Given the description of an element on the screen output the (x, y) to click on. 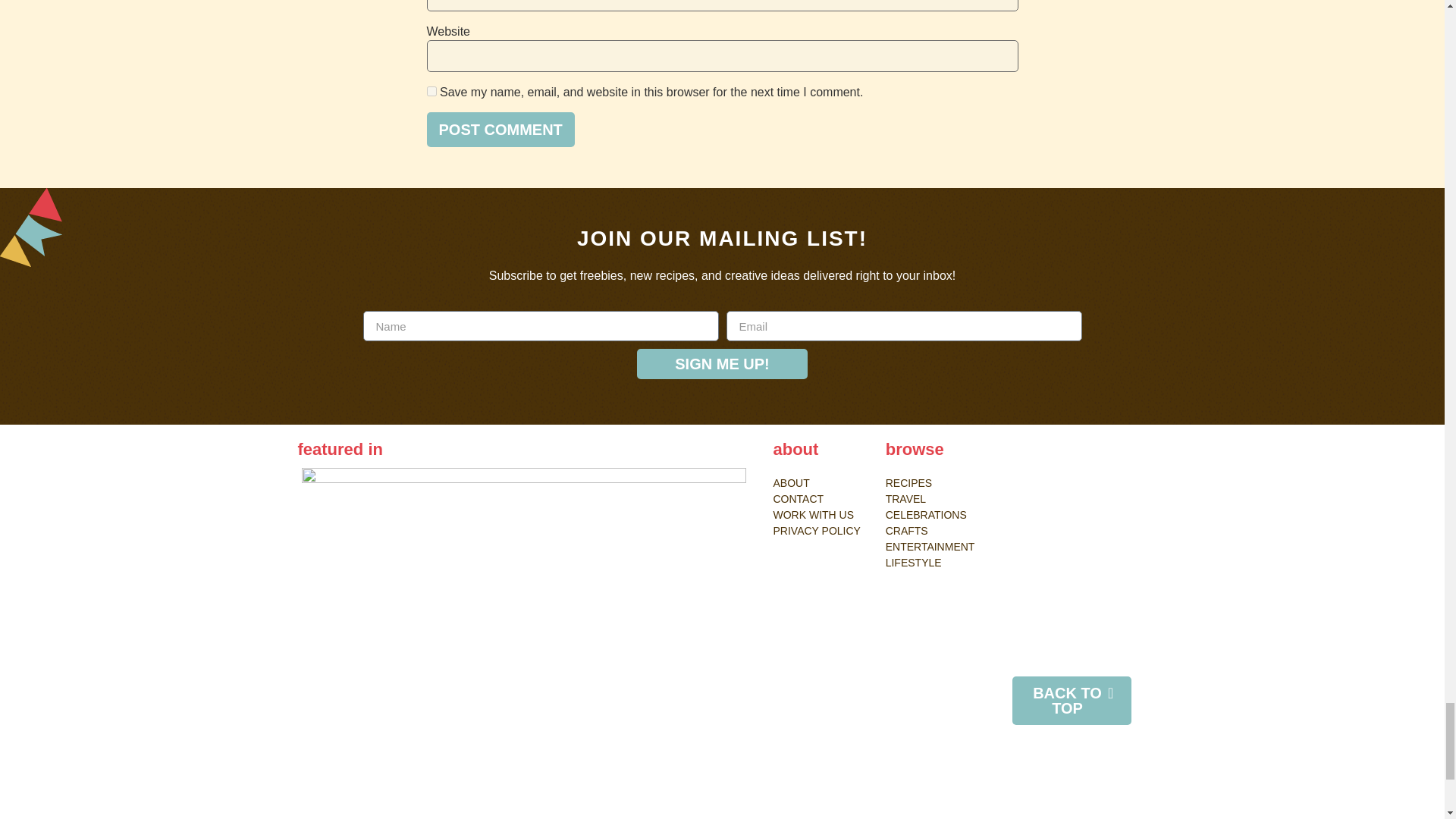
yes (430, 91)
Post Comment (499, 129)
